Given the description of an element on the screen output the (x, y) to click on. 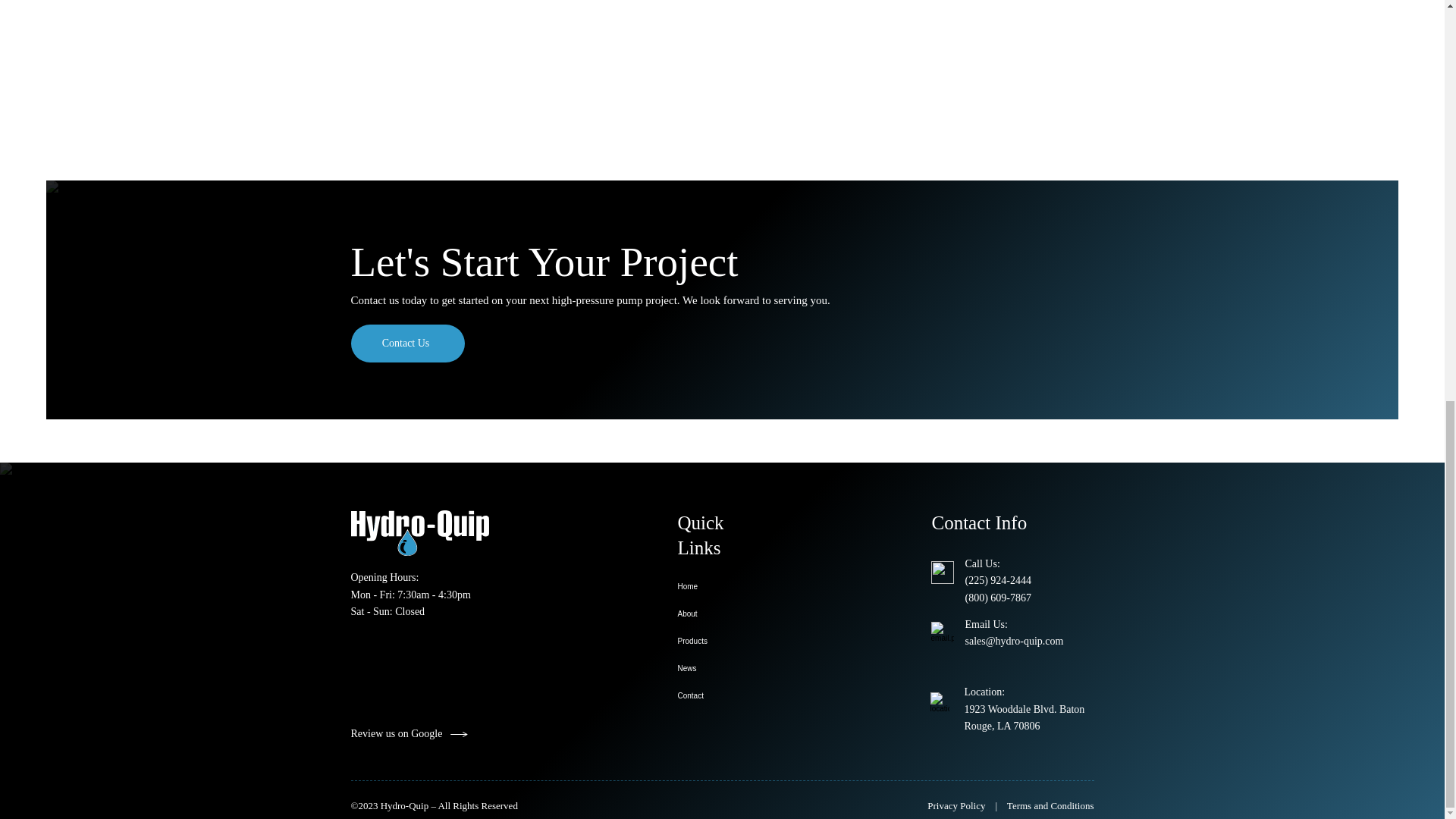
Contact Us (407, 343)
Privacy Policy (956, 805)
Home (718, 586)
About (718, 614)
Contact (718, 696)
Sat - Sun: Closed (387, 611)
1923 Wooddale Blvd. Baton Rouge, LA 70806 (1023, 717)
Review us on Google (427, 734)
Products (718, 641)
News (718, 668)
Terms and Conditions (1050, 805)
Mon - Fri: 7:30am - 4:30pm (410, 594)
